Given the description of an element on the screen output the (x, y) to click on. 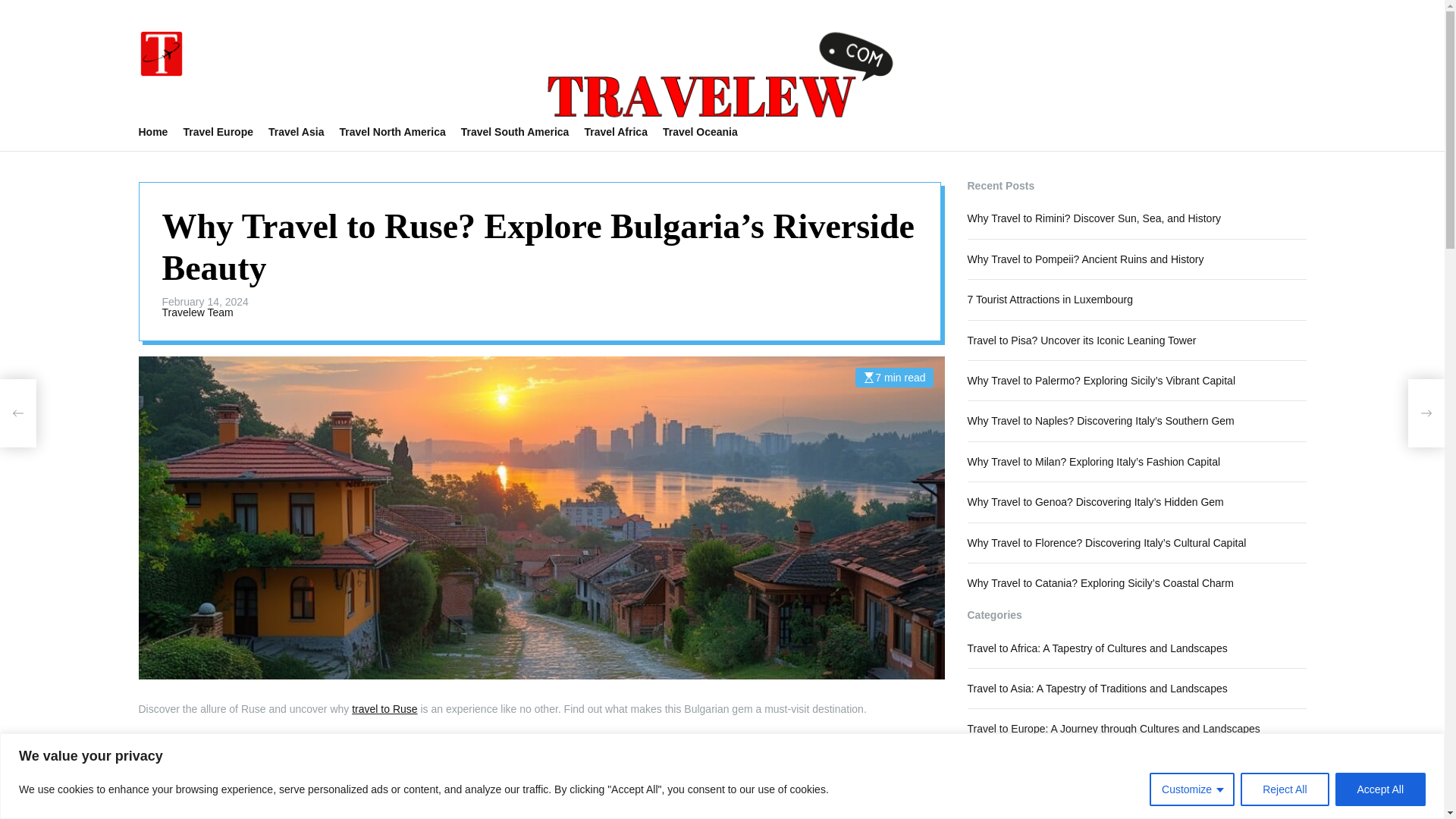
Travel Europe (225, 131)
Travel South America (523, 131)
Travel Africa (622, 131)
Reject All (1283, 788)
travel to Ruse (384, 708)
Home (160, 131)
Travel North America (399, 131)
Customize (1192, 788)
Travel Asia (303, 131)
Travelew Team (196, 312)
Danube River (217, 794)
Travel Oceania (707, 131)
Accept All (1380, 788)
